Given the description of an element on the screen output the (x, y) to click on. 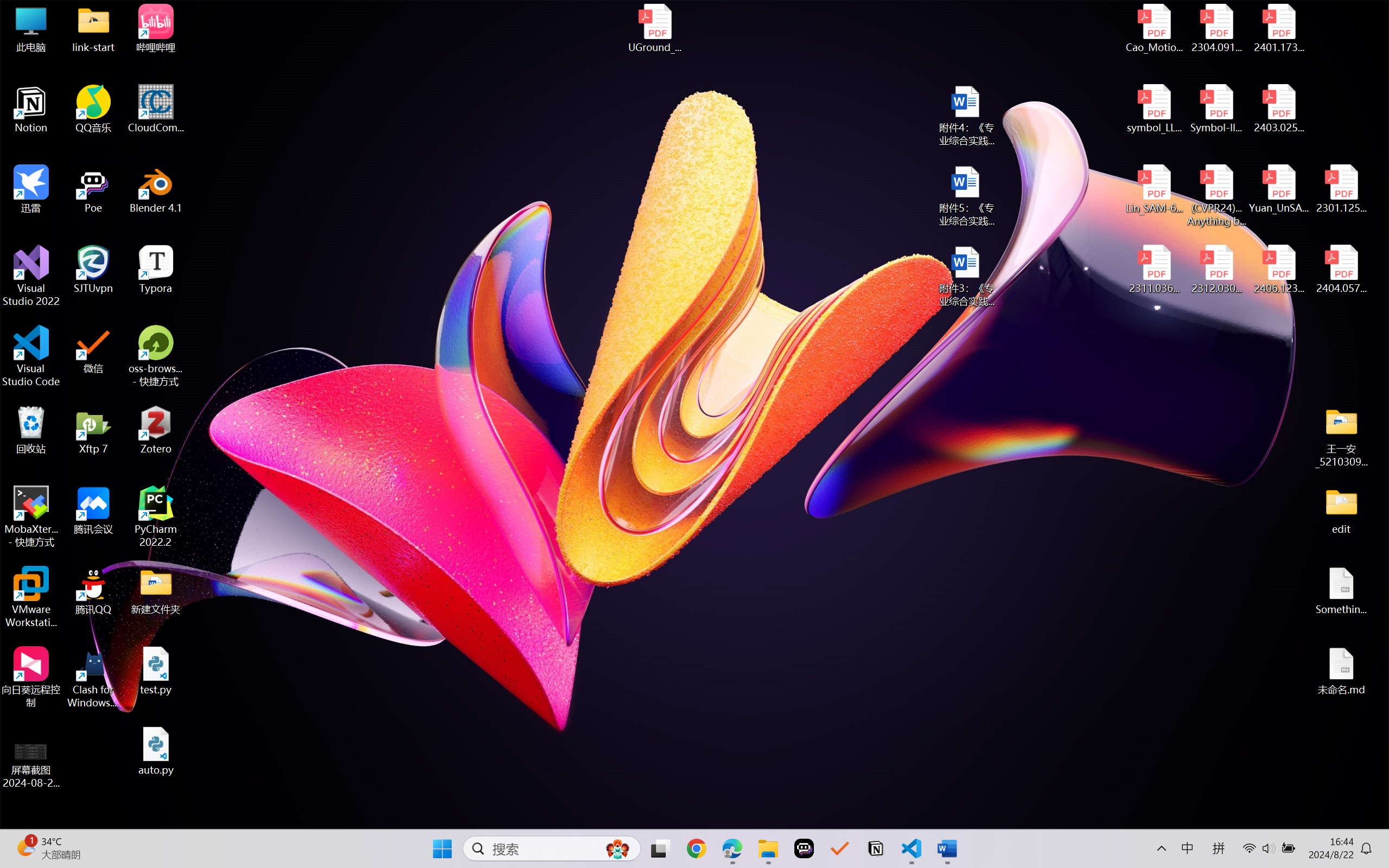
2401.17399v1.pdf (1278, 28)
Google Chrome (696, 848)
UGround_paper.pdf (654, 28)
Visual Studio 2022 (31, 276)
2301.12597v3.pdf (1340, 189)
2304.09121v3.pdf (1216, 28)
Symbol-llm-v2.pdf (1216, 109)
